Given the description of an element on the screen output the (x, y) to click on. 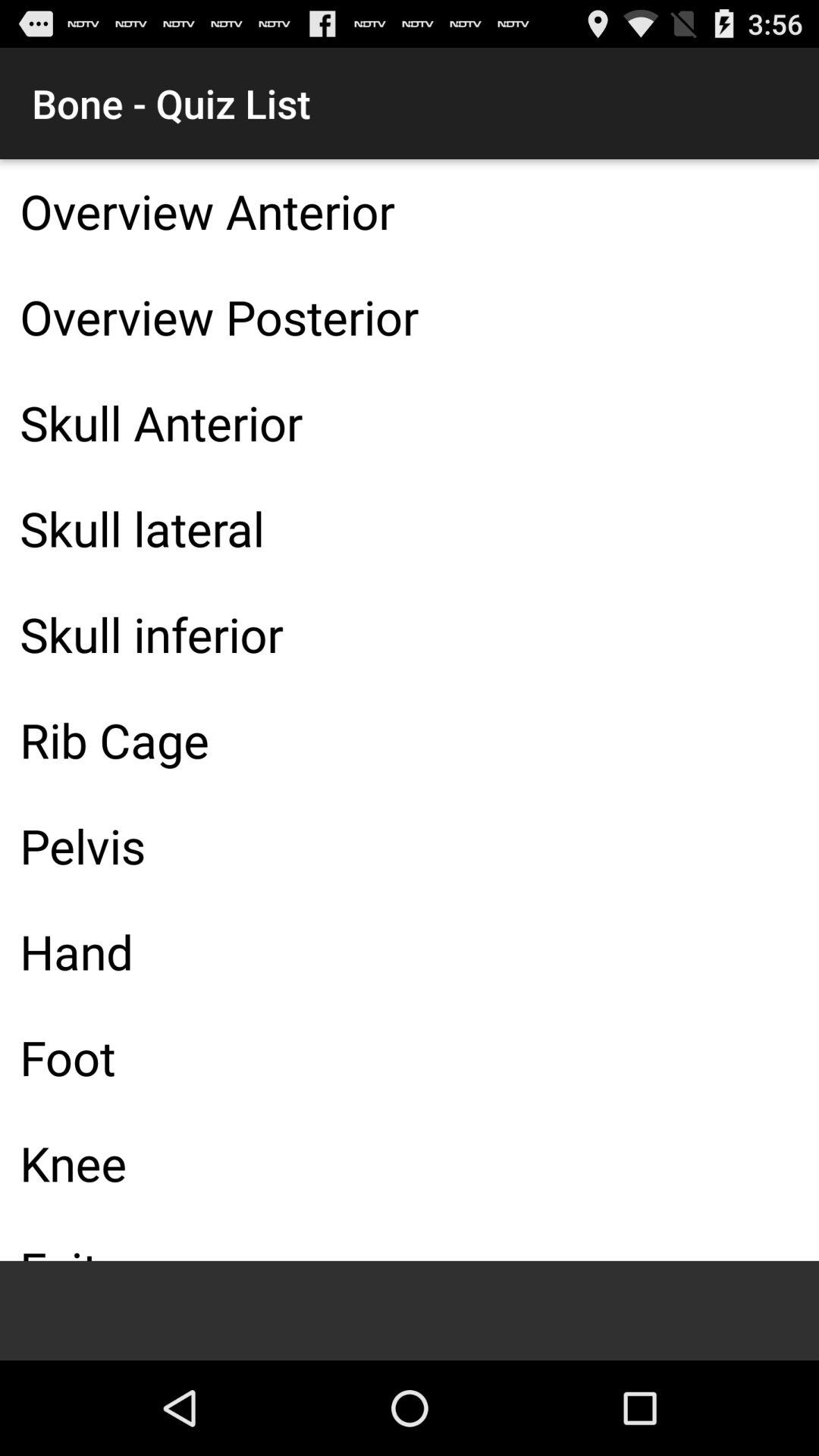
choose the app below the skull inferior (409, 739)
